Given the description of an element on the screen output the (x, y) to click on. 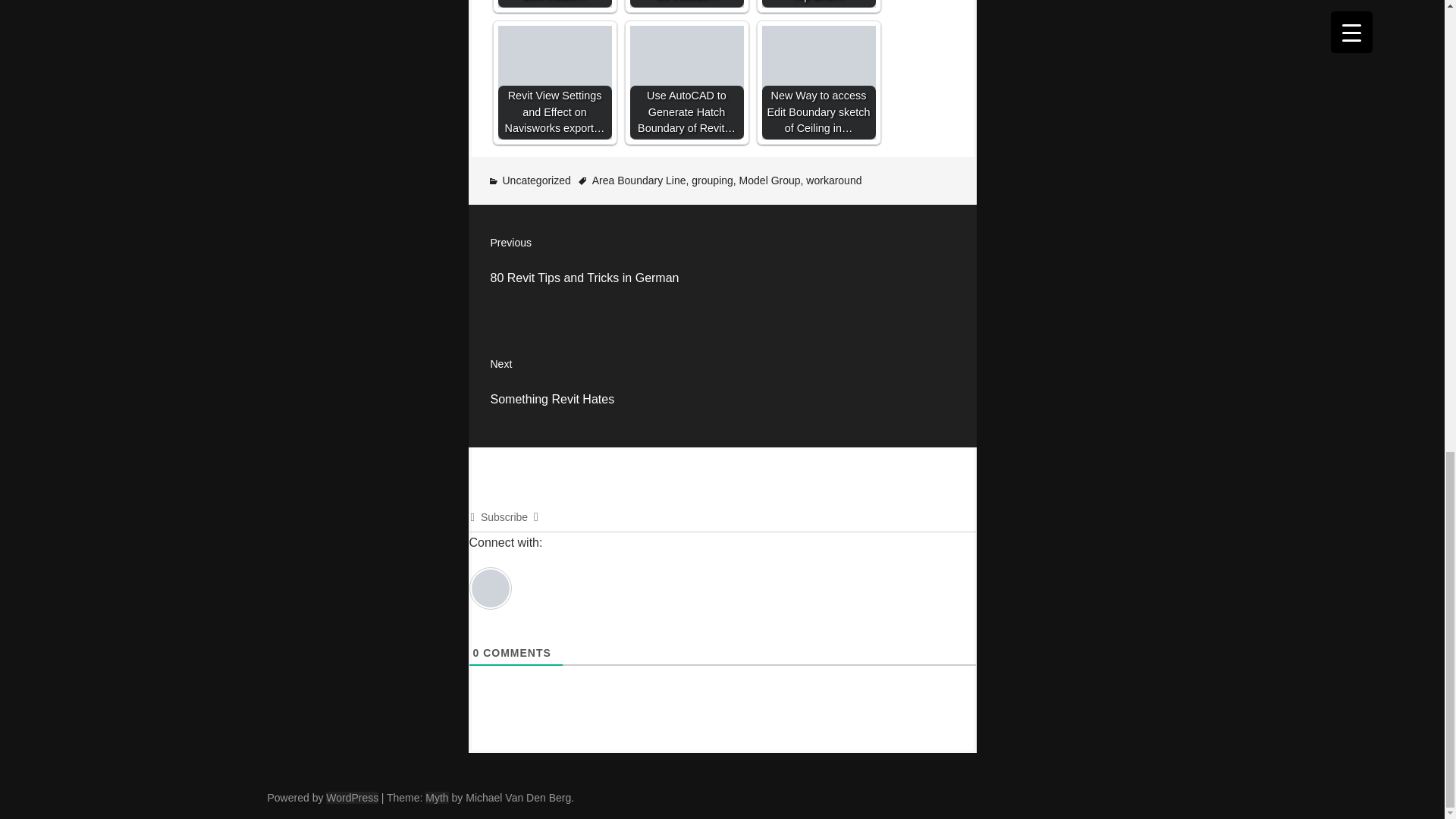
Model Group (769, 180)
workaround (833, 180)
Uncategorized (536, 180)
grouping (722, 386)
Area Boundary Line (722, 264)
